Given the description of an element on the screen output the (x, y) to click on. 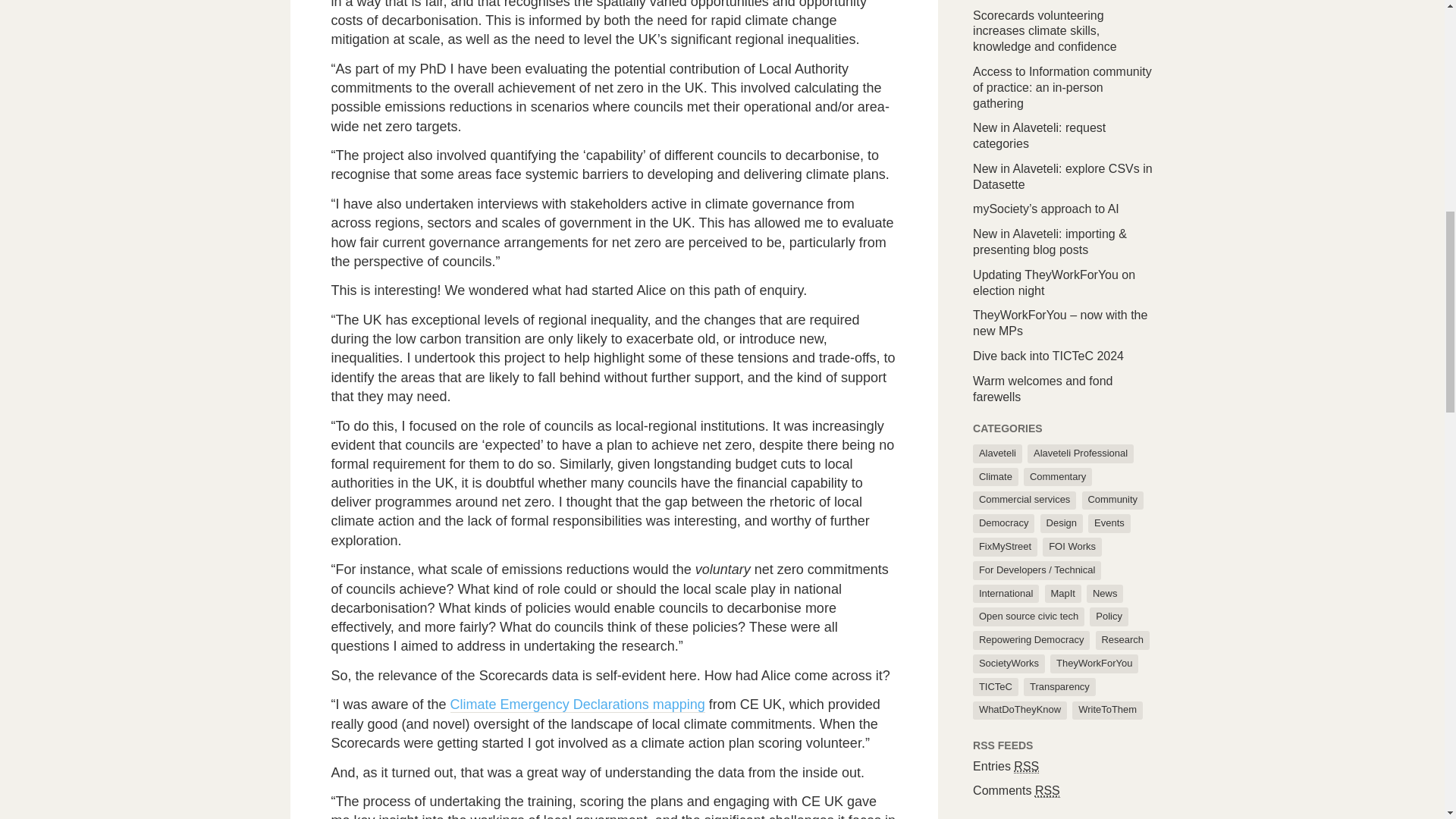
Really Simple Syndication (1026, 766)
Syndicate this site using RSS 2.0 (1005, 766)
Really Simple Syndication (1047, 790)
Climate Emergency Declarations mapping (576, 704)
The latest comments to all posts in RSS (1015, 790)
